Given the description of an element on the screen output the (x, y) to click on. 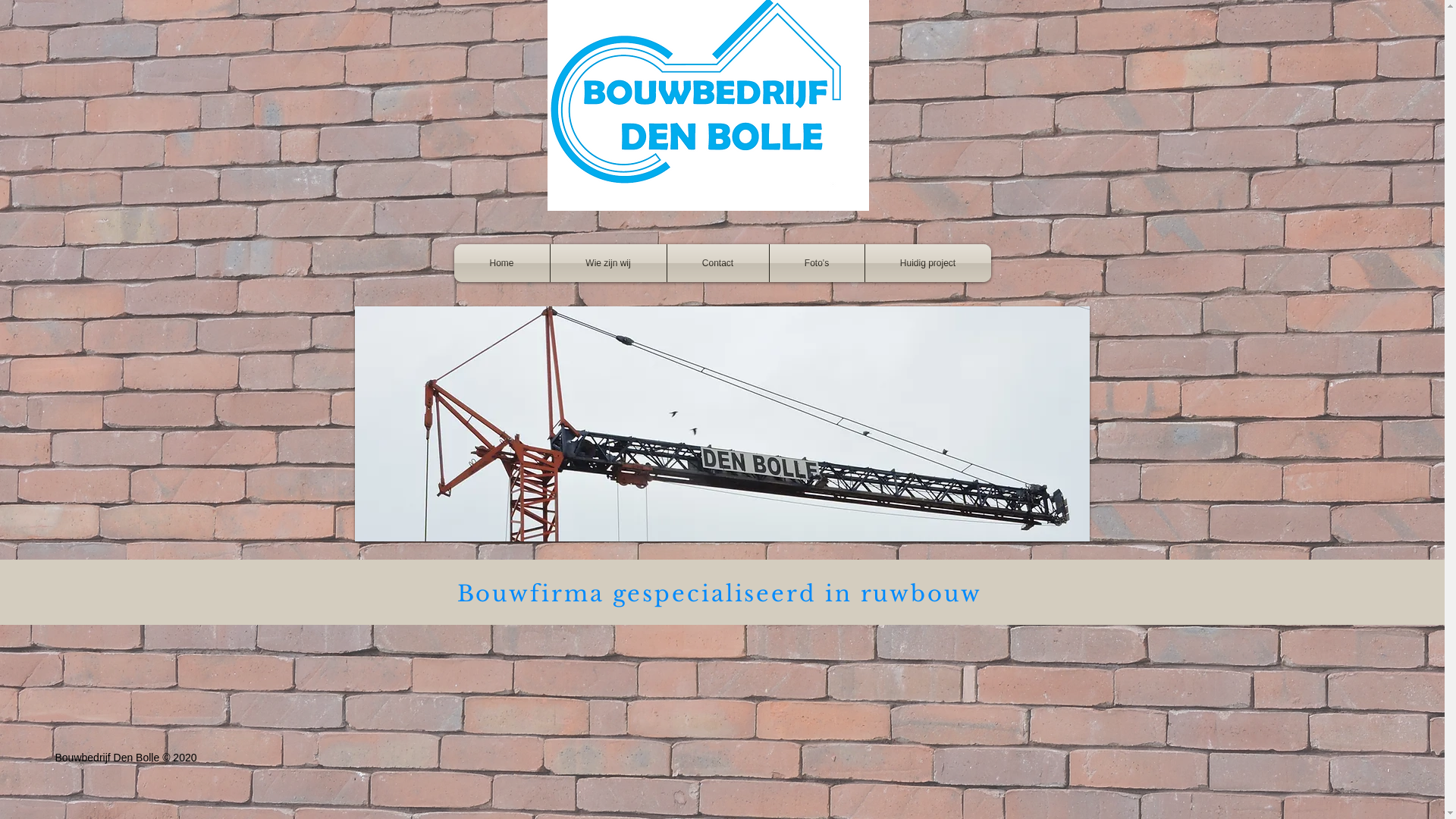
Foto's Element type: text (815, 263)
Huidig project Element type: text (927, 263)
Home Element type: text (501, 263)
logo blauw.PNG Element type: hover (708, 105)
Wie zijn wij Element type: text (608, 263)
Contact Element type: text (717, 263)
